Given the description of an element on the screen output the (x, y) to click on. 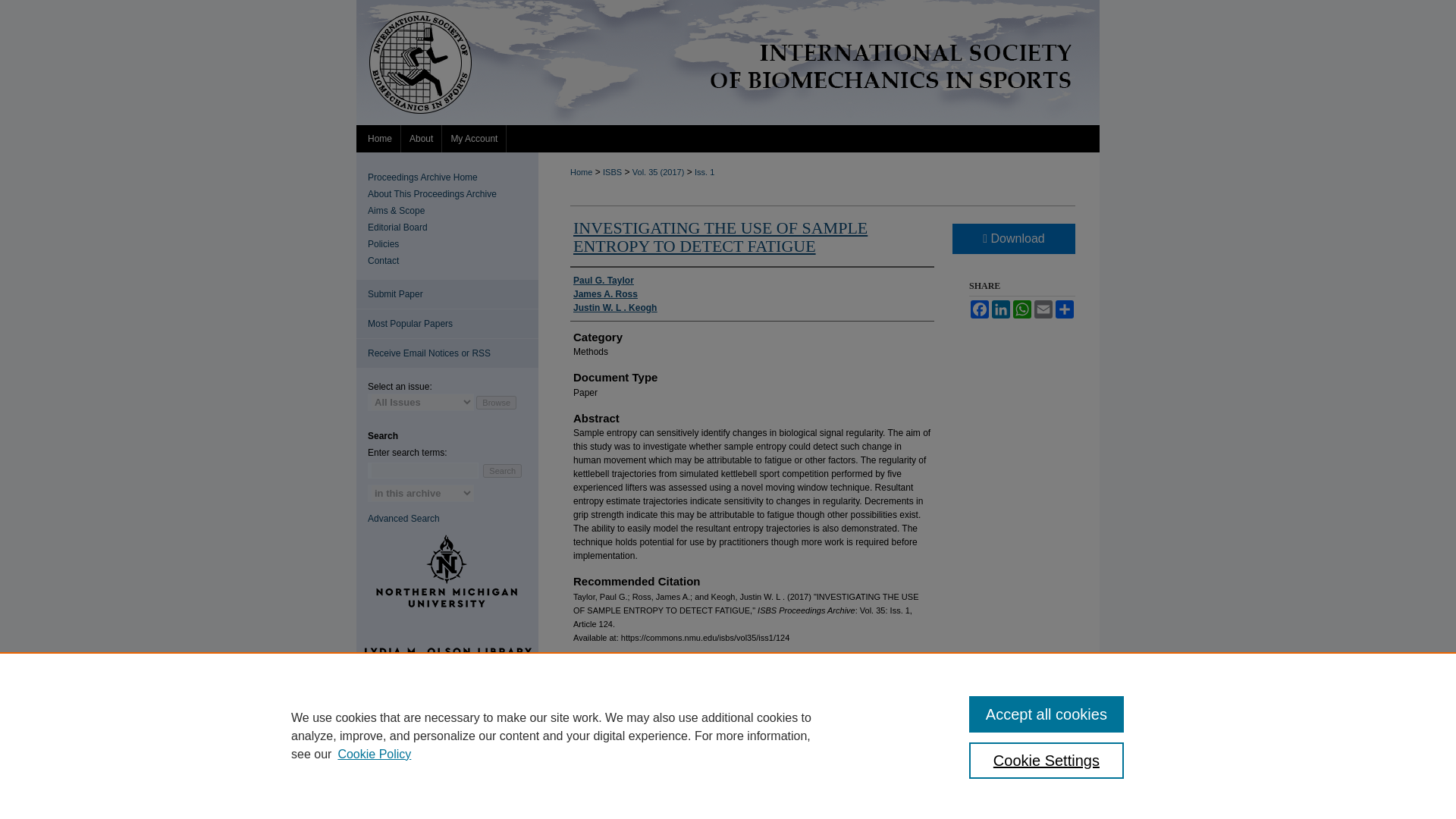
Iss. 1 (704, 171)
Email (1043, 309)
About (421, 138)
Submit Paper (447, 294)
Home (581, 171)
ISBS Proceedings Archive (727, 62)
Receive notifications of new content (447, 353)
Policies (453, 244)
WhatsApp (1021, 309)
Justin W. L . Keogh (614, 307)
Proceedings Archive Home (453, 176)
ISBS Proceedings Archive (453, 176)
LinkedIn (1000, 309)
Search (502, 470)
Home (378, 138)
